Given the description of an element on the screen output the (x, y) to click on. 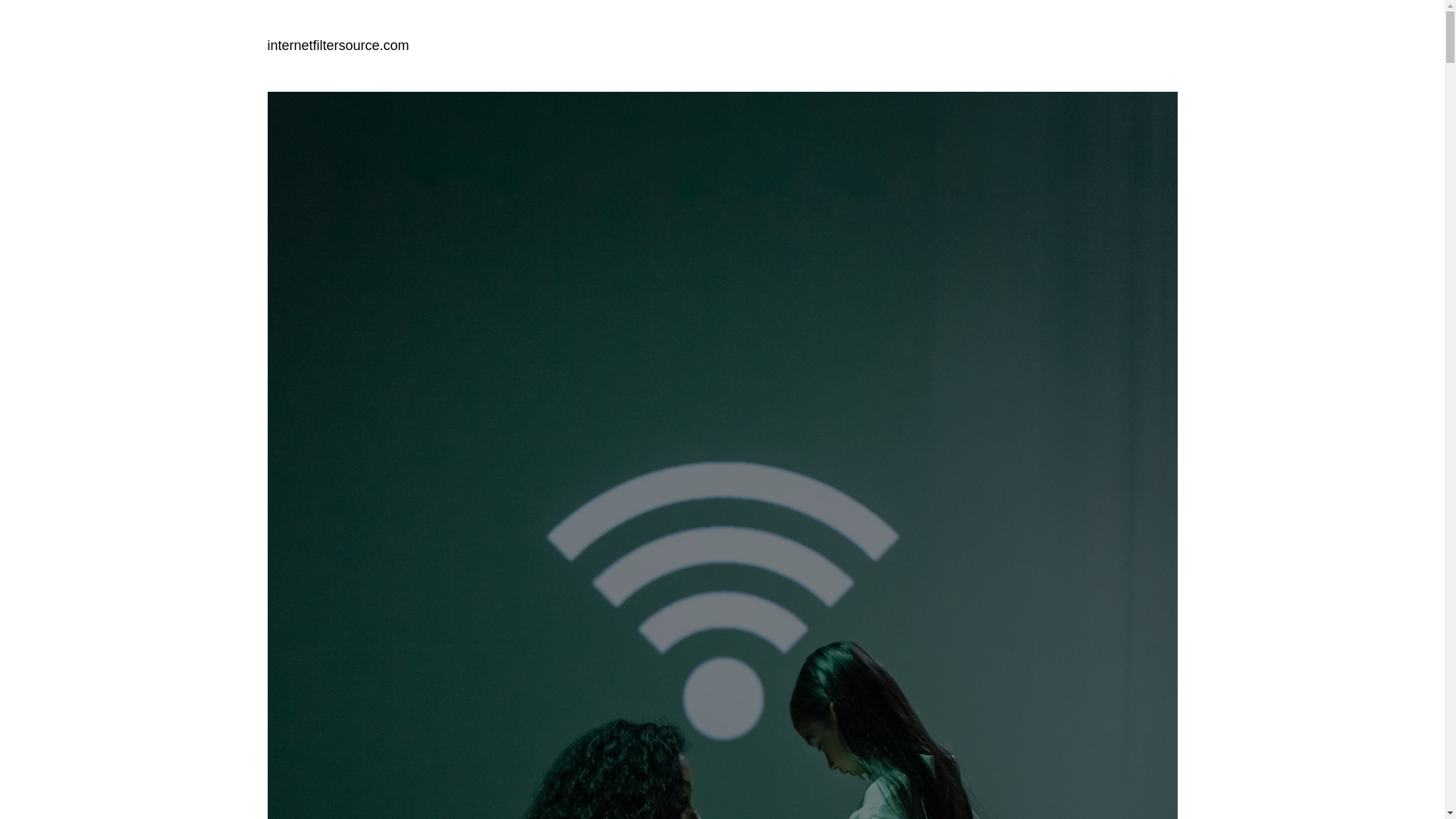
internetfiltersource.com (337, 45)
